Given the description of an element on the screen output the (x, y) to click on. 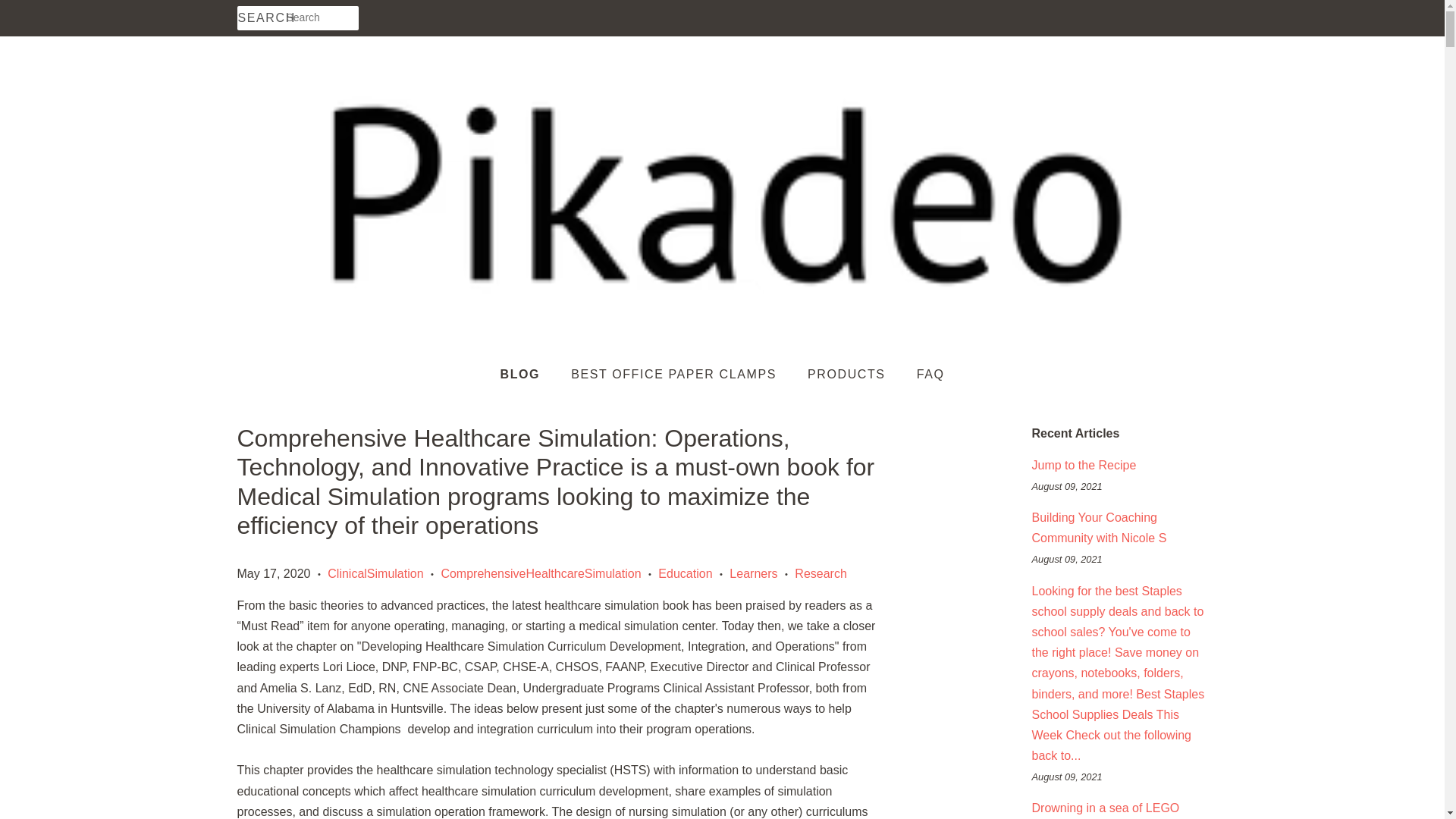
PRODUCTS (848, 373)
SEARCH (260, 18)
Jump to the Recipe (1082, 464)
ComprehensiveHealthcareSimulation (540, 573)
ClinicalSimulation (375, 573)
Learners (753, 573)
Building Your Coaching Community with Nicole S (1098, 527)
BLOG (528, 373)
Research (819, 573)
